Given the description of an element on the screen output the (x, y) to click on. 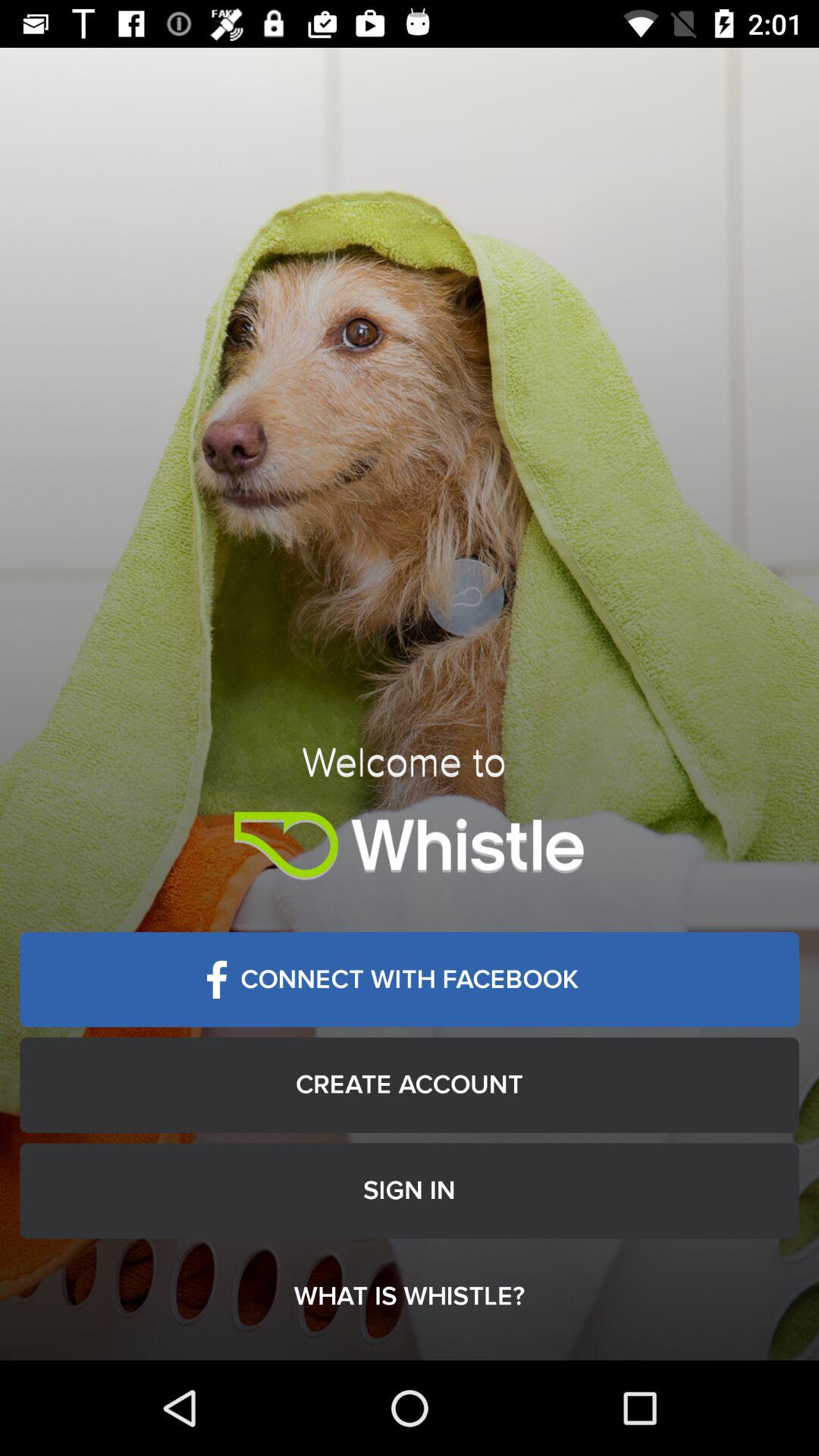
choose the item below the create account (409, 1190)
